Given the description of an element on the screen output the (x, y) to click on. 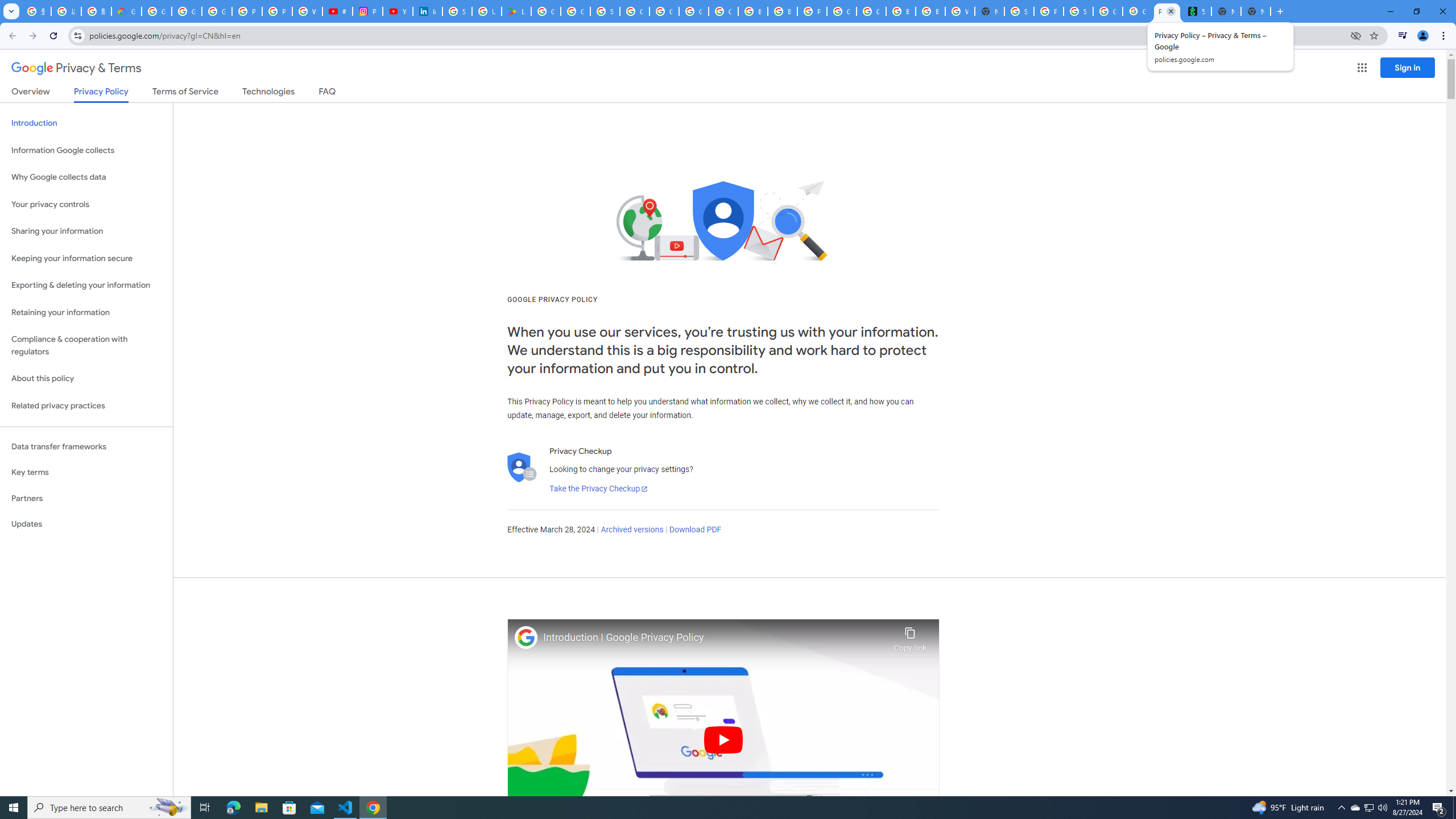
About this policy (86, 379)
Play (723, 739)
Last Shelter: Survival - Apps on Google Play (515, 11)
Browse Chrome as a guest - Computer - Google Chrome Help (753, 11)
Google Workspace - Specific Terms (575, 11)
